Given the description of an element on the screen output the (x, y) to click on. 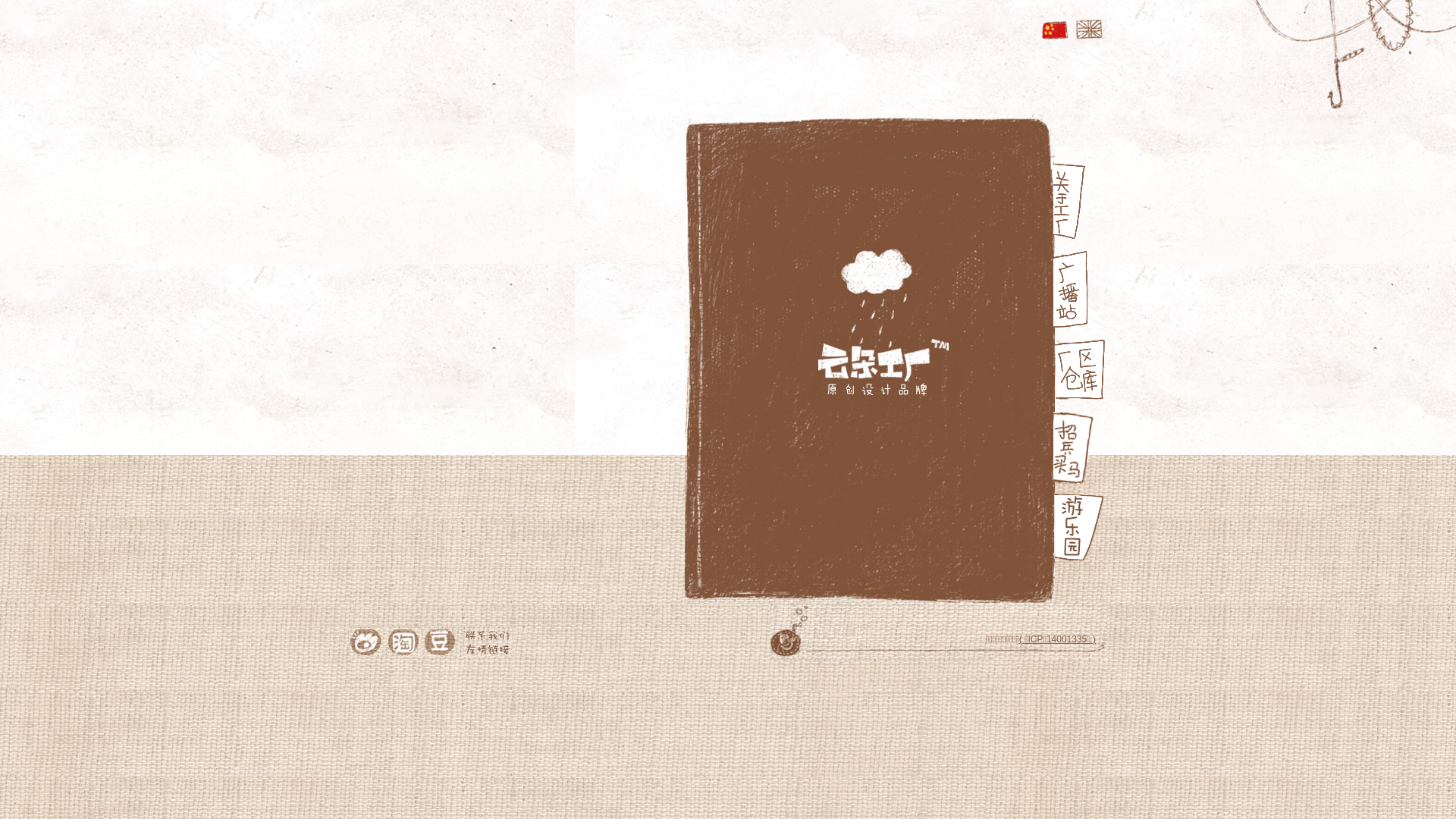
English Element type: hover (1090, 29)
